Given the description of an element on the screen output the (x, y) to click on. 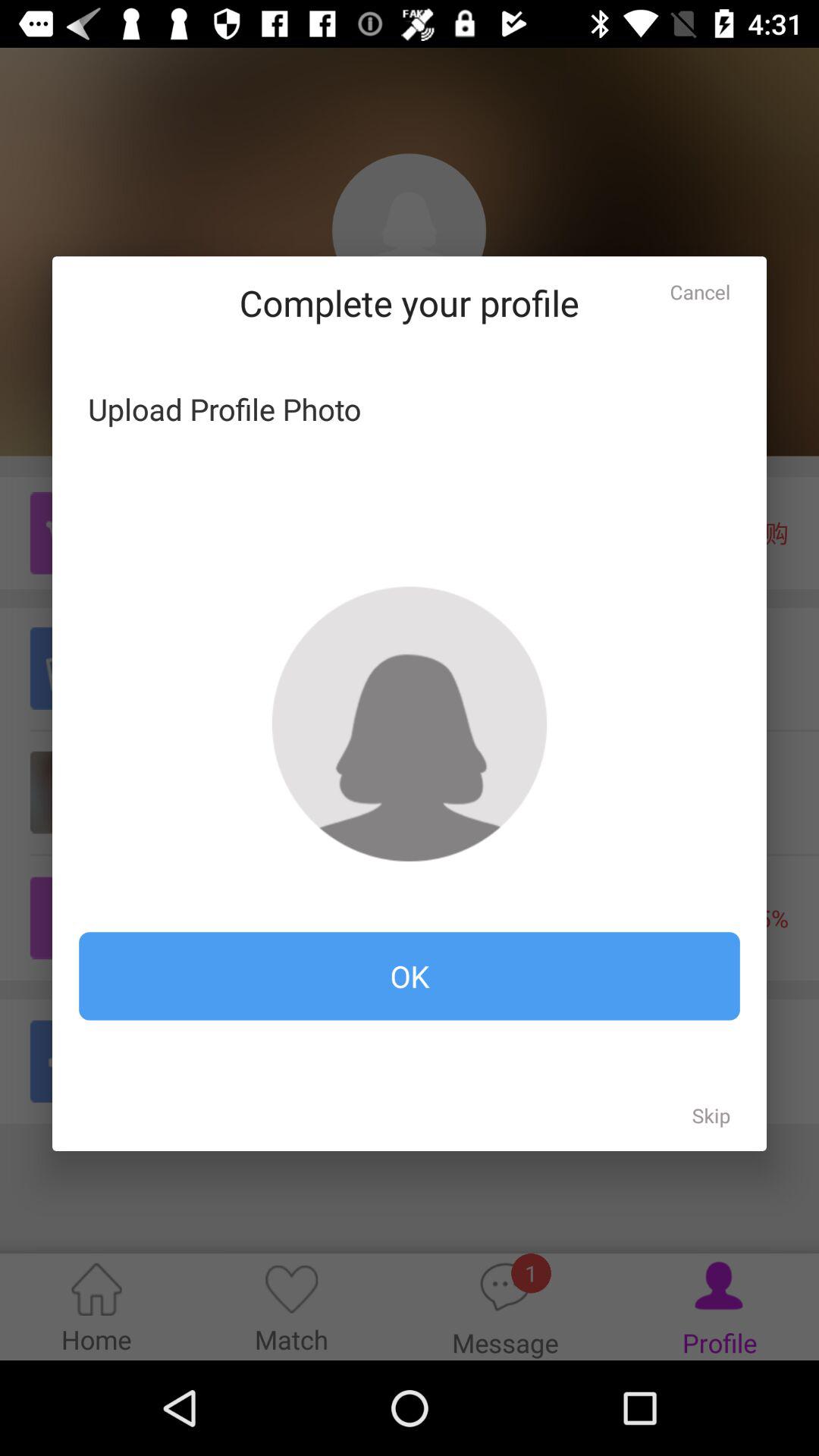
open item above the ok item (409, 723)
